Given the description of an element on the screen output the (x, y) to click on. 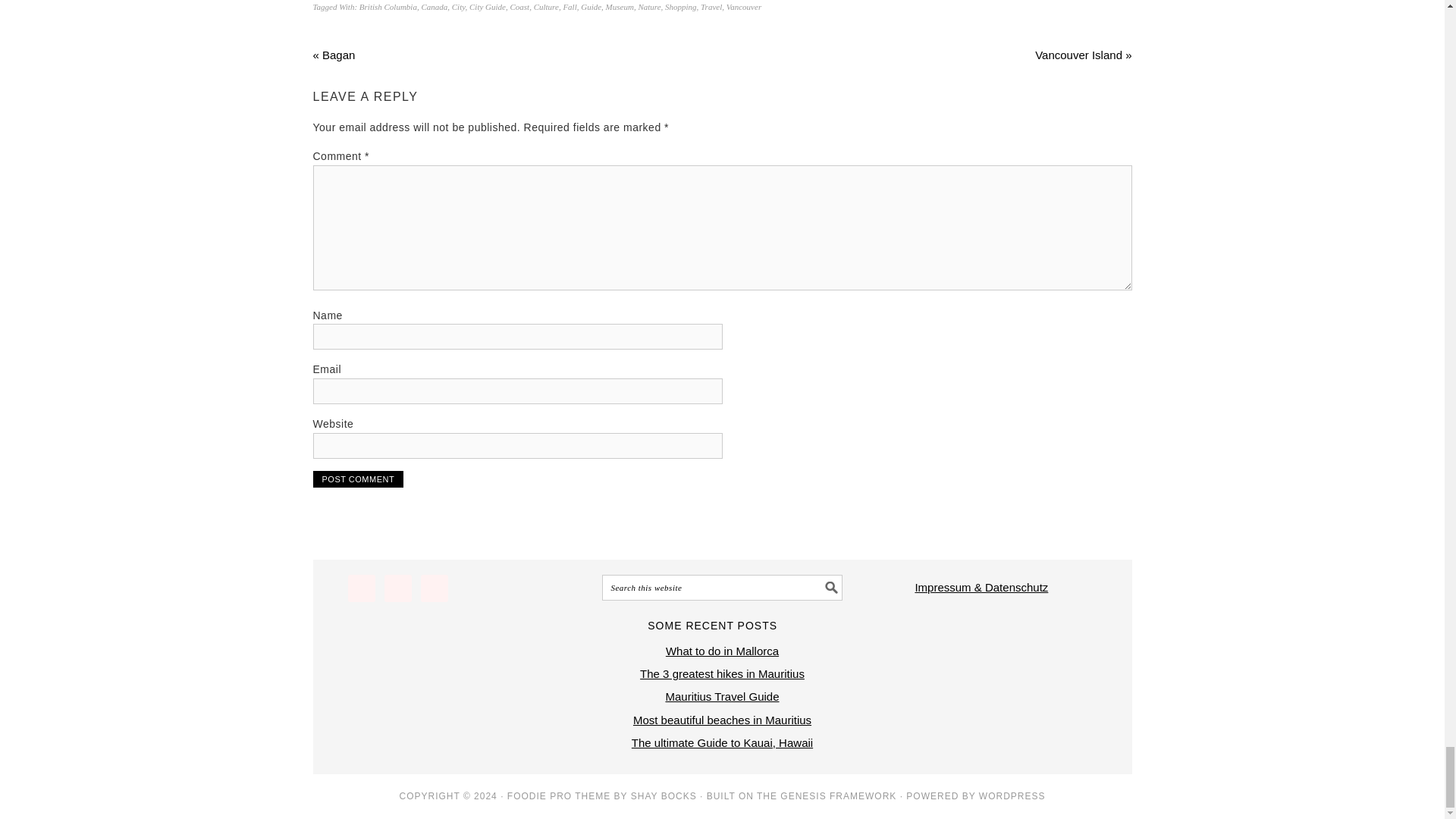
Post Comment (358, 478)
